Given the description of an element on the screen output the (x, y) to click on. 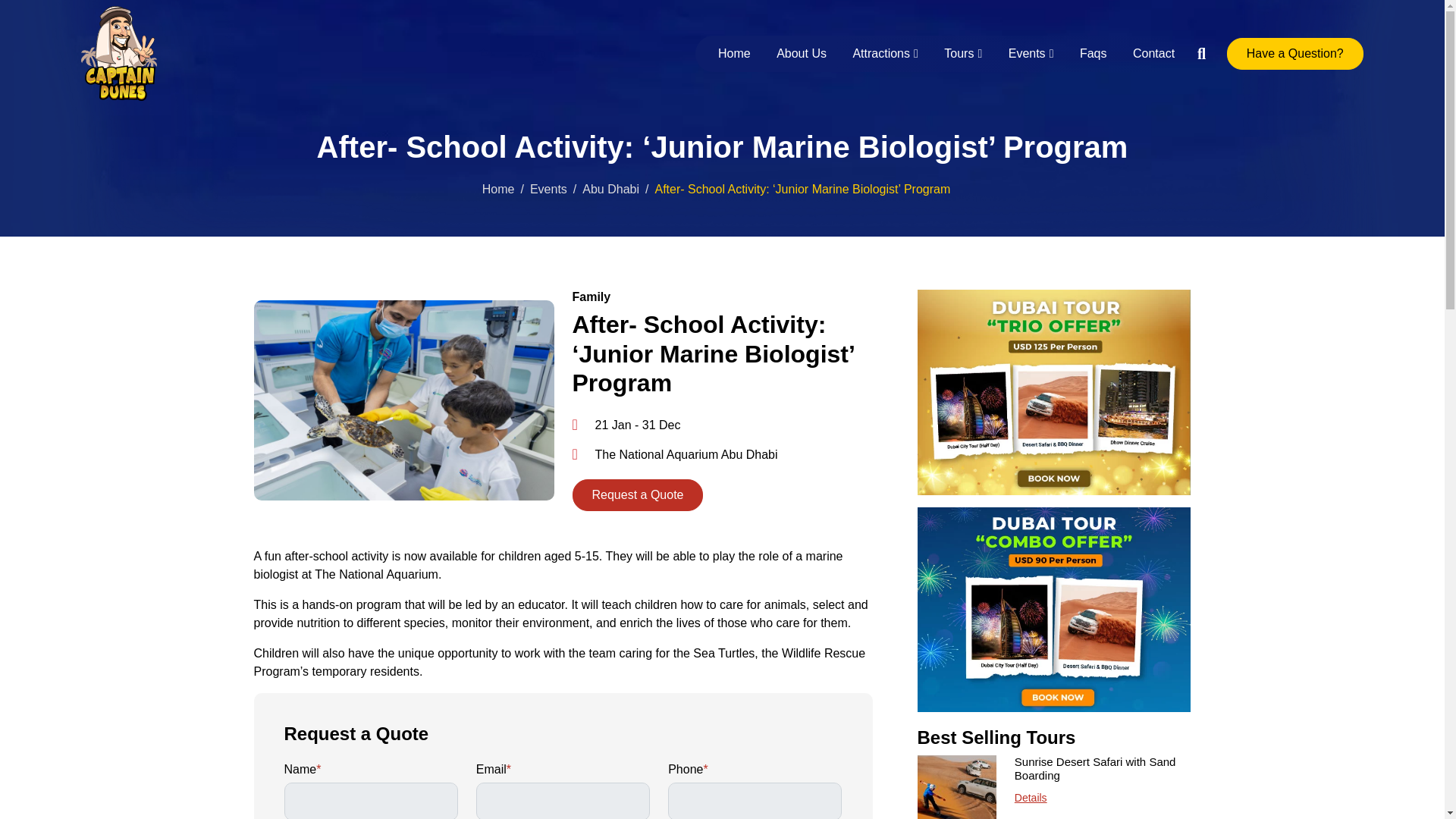
Events (548, 188)
Have a Question? (1294, 53)
Go to Home. (498, 188)
Request a Quote (637, 495)
Events (1031, 53)
Contact (1147, 53)
Go to Abu Dhabi. (610, 188)
Home (733, 53)
Tours (962, 53)
Request a Quote (637, 495)
